Given the description of an element on the screen output the (x, y) to click on. 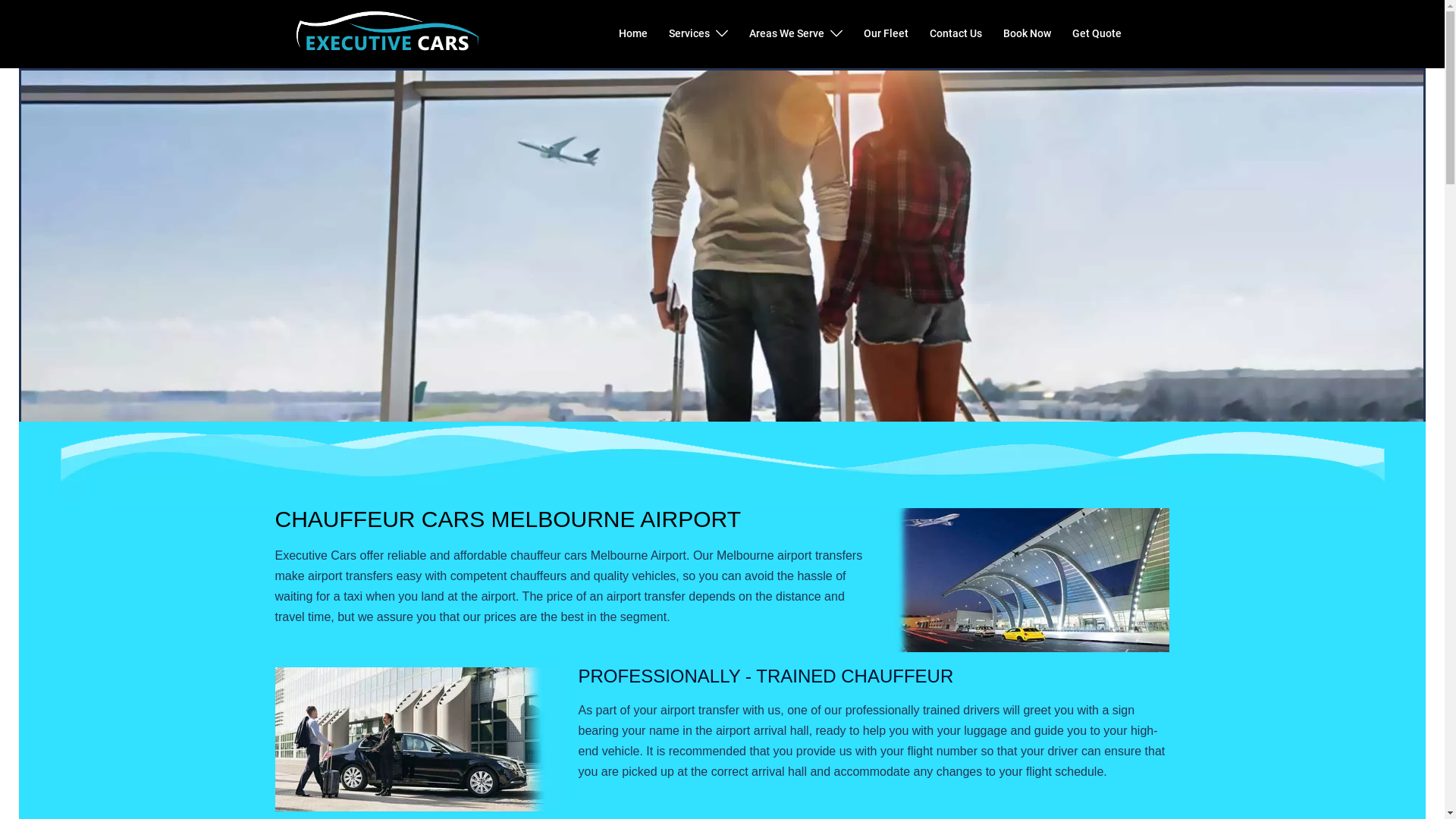
Contact Us Element type: text (955, 34)
Home Element type: text (632, 34)
Get Quote Element type: text (1096, 34)
Our Fleet Element type: text (884, 34)
Executive Cars Melbourne Element type: hover (386, 32)
Book Now Element type: text (1026, 34)
Services Element type: text (688, 34)
Areas We Serve Element type: text (786, 34)
